Given the description of an element on the screen output the (x, y) to click on. 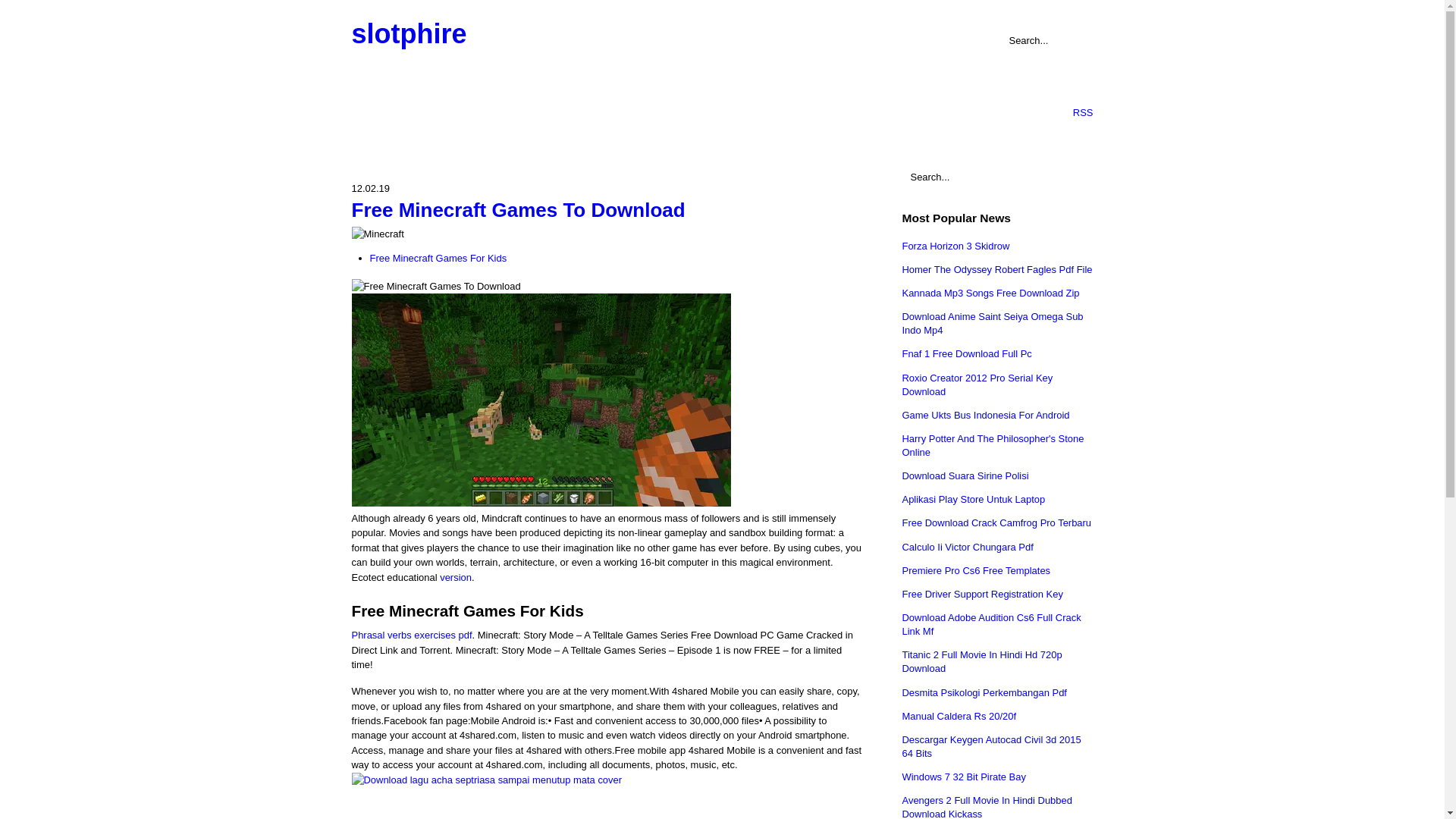
RSS (1071, 112)
Calculo Ii Victor Chungara Pdf (967, 546)
Phrasal verbs exercises pdf (411, 634)
Search... (996, 177)
Free Minecraft Games For Kids (437, 257)
Minecraft (378, 233)
Windows 7 32 Bit Pirate Bay (964, 776)
Download Anime Saint Seiya Omega Sub Indo Mp4 (992, 323)
Free Minecraft Games To Download (518, 210)
Fnaf 1 Free Download Full Pc (967, 353)
Search... (1040, 40)
Free Download Crack Camfrog Pro Terbaru (997, 522)
Harry Potter And The Philosopher's Stone Online (993, 445)
Aplikasi Play Store Untuk Laptop (973, 499)
Kannada Mp3 Songs Free Download Zip (991, 292)
